Given the description of an element on the screen output the (x, y) to click on. 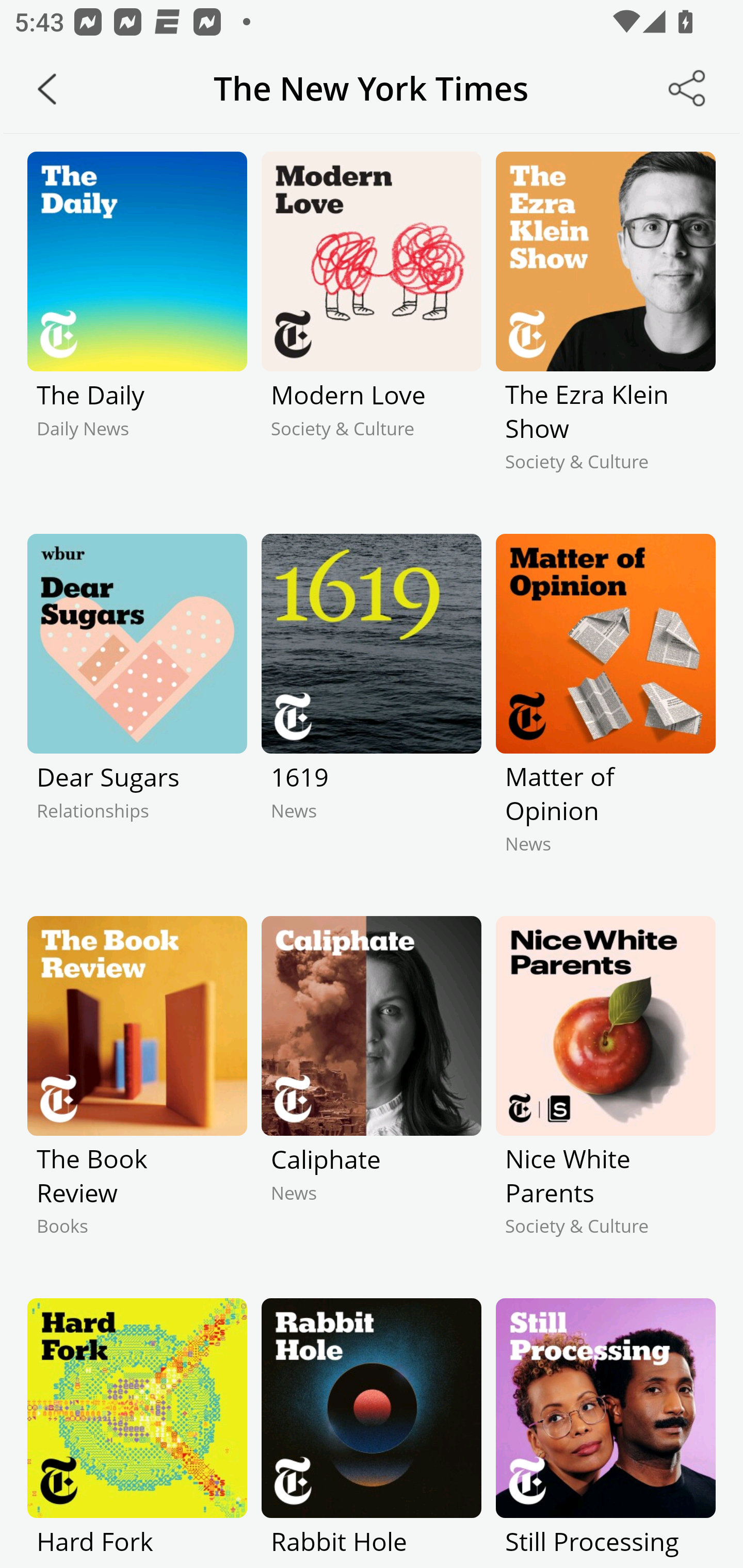
Back (46, 88)
The Daily Daily News (137, 329)
Modern Love Society & Culture (371, 329)
The Ezra Klein Show Society & Culture (605, 329)
Dear Sugars Relationships (137, 711)
1619 News (371, 711)
Matter of Opinion News (605, 711)
The Book Review Books (137, 1093)
Caliphate News (371, 1093)
Nice White Parents Society & Culture (605, 1093)
Hard Fork Technology (137, 1433)
Rabbit Hole Technology (371, 1433)
Still Processing Society & Culture (605, 1433)
